Given the description of an element on the screen output the (x, y) to click on. 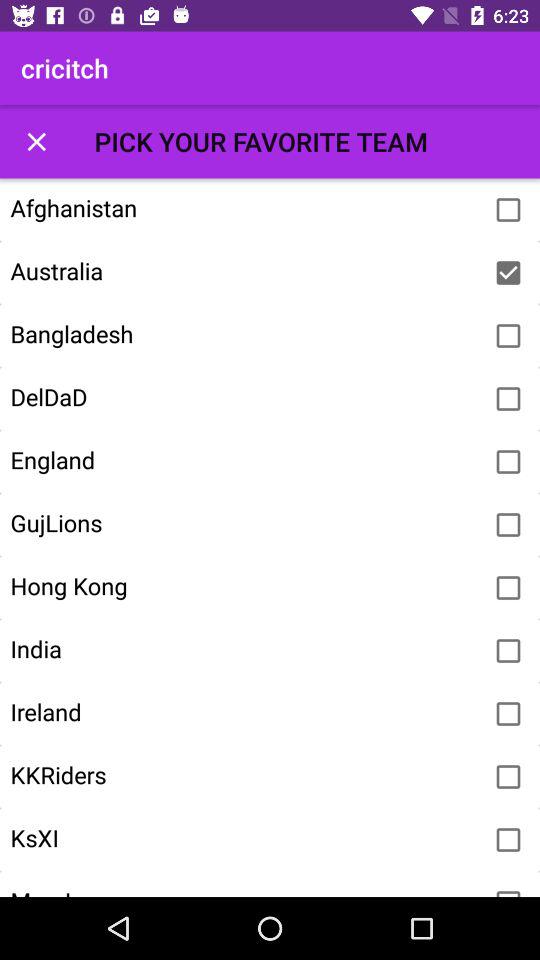
close the list (36, 141)
